Given the description of an element on the screen output the (x, y) to click on. 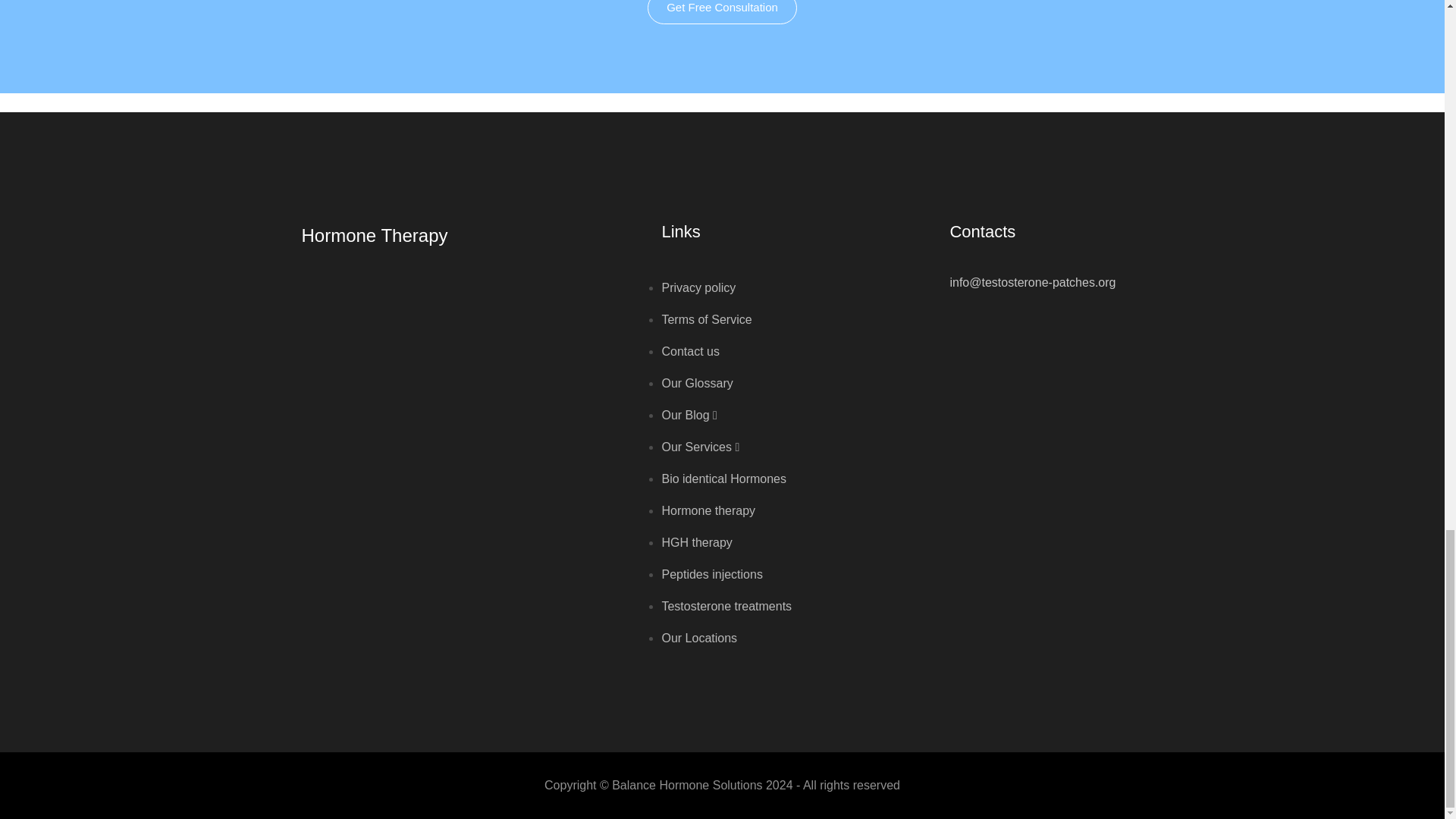
Hormone Therapy (374, 235)
Our Glossary (696, 382)
Our Services (700, 446)
Peptides injections (711, 574)
HGH therapy (696, 542)
Our Locations (698, 637)
Bio identical Hormones (723, 478)
Testosterone treatments (726, 605)
Get Free Consultation (721, 12)
Our Blog (688, 414)
Hormone therapy (708, 510)
Terms of Service (706, 318)
Contact us (690, 350)
Privacy policy (698, 287)
